Given the description of an element on the screen output the (x, y) to click on. 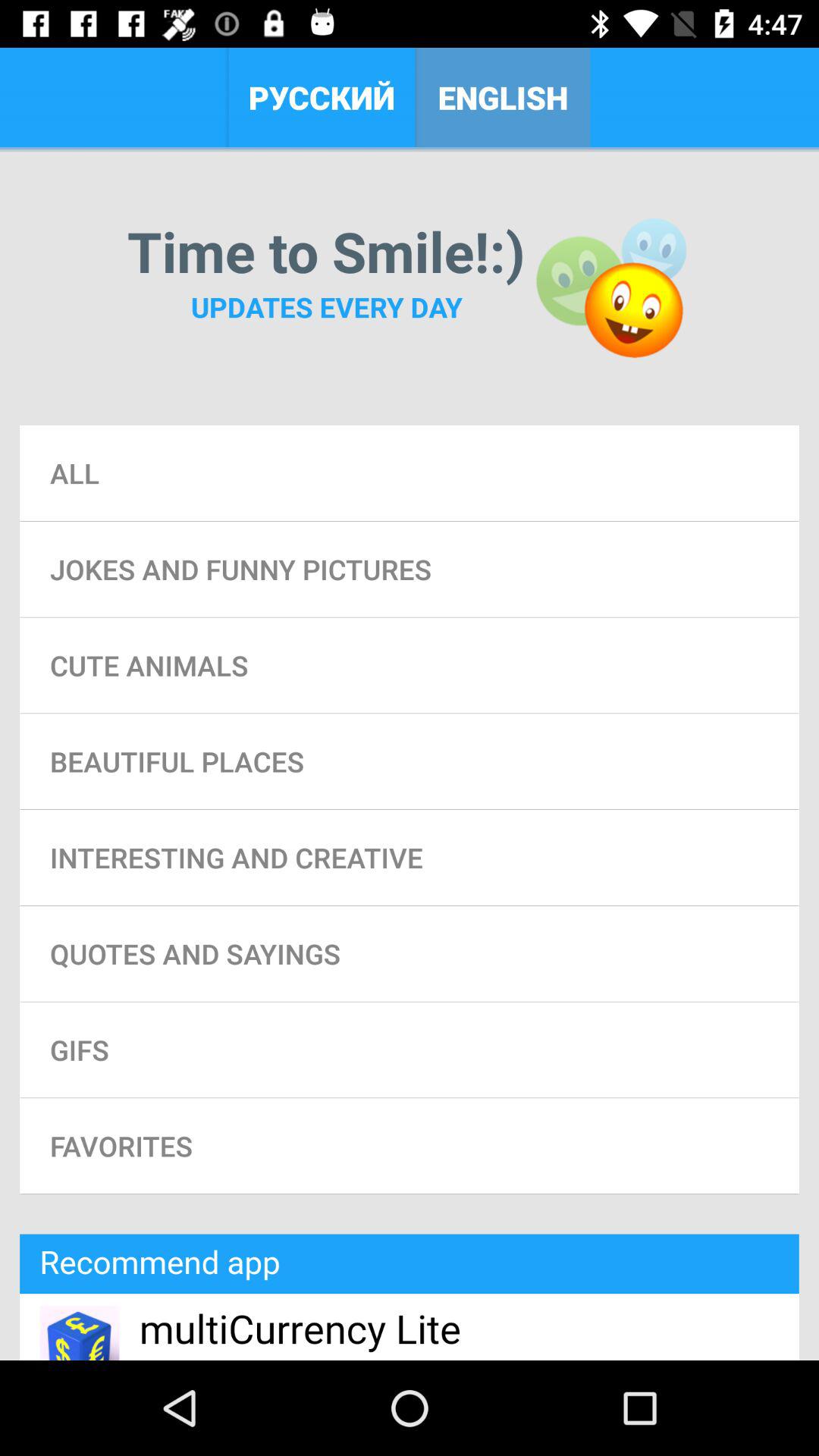
launch interesting and creative icon (409, 857)
